Given the description of an element on the screen output the (x, y) to click on. 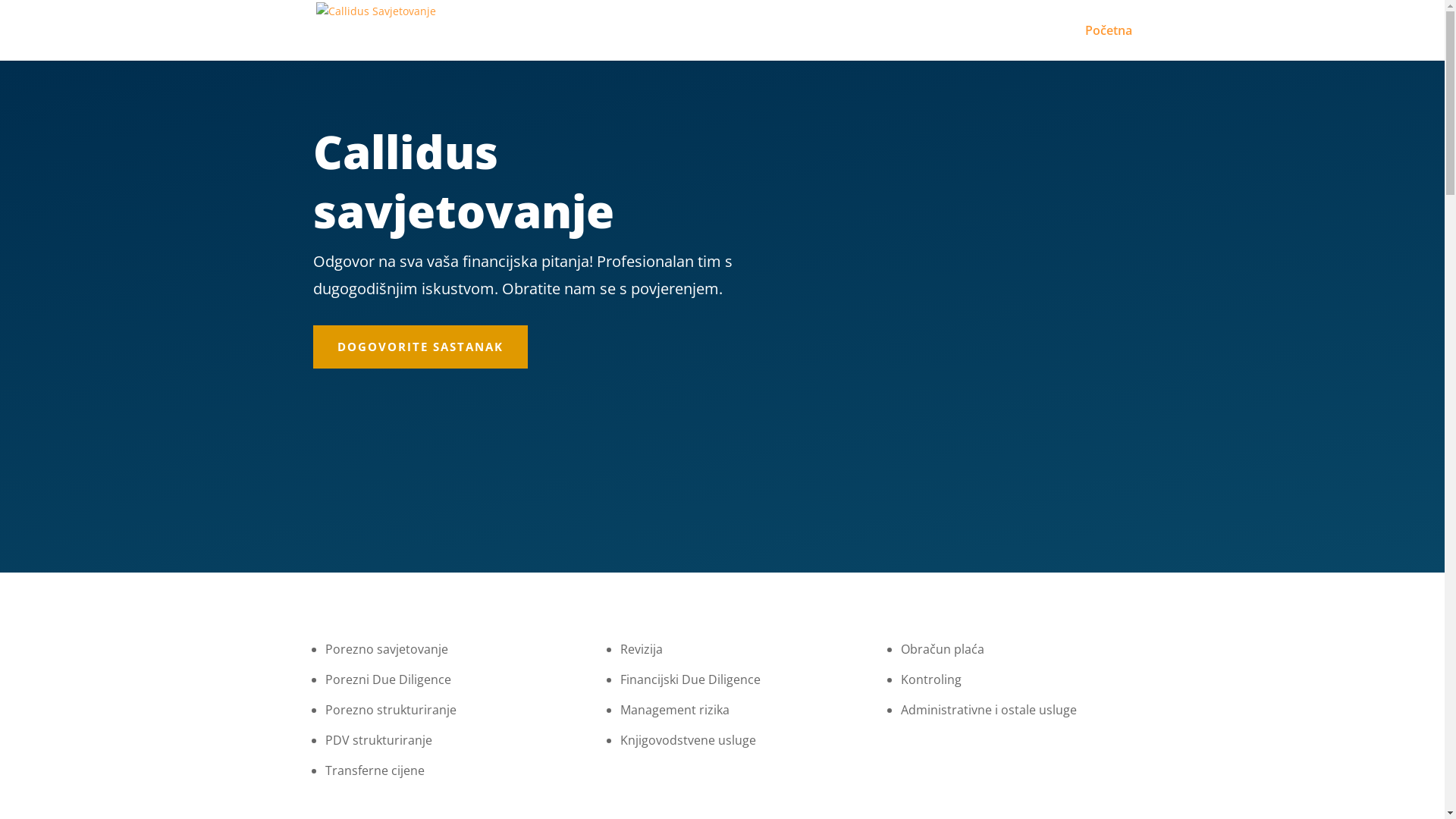
DOGOVORITE SASTANAK Element type: text (419, 347)
